Given the description of an element on the screen output the (x, y) to click on. 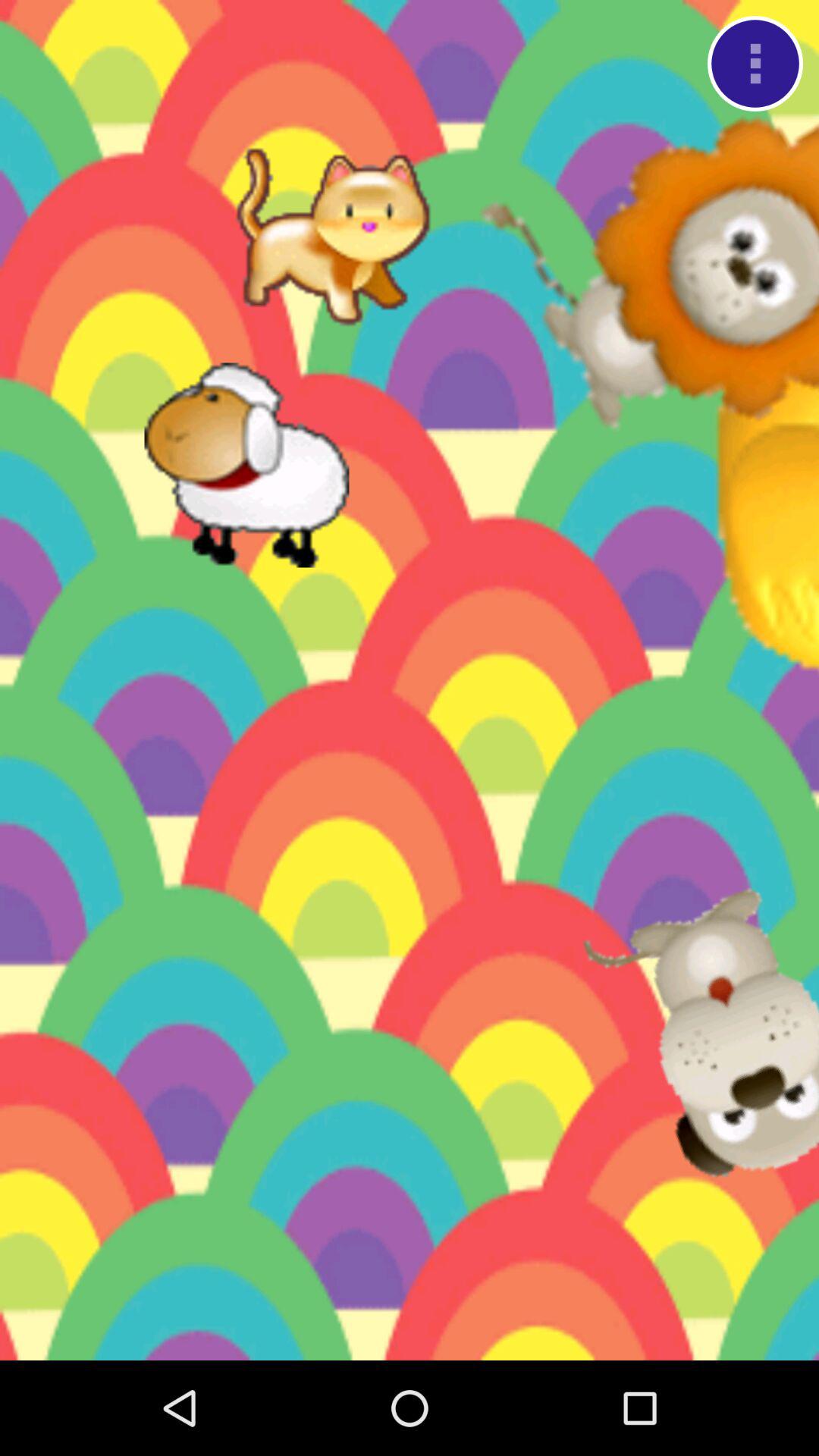
option (755, 63)
